Given the description of an element on the screen output the (x, y) to click on. 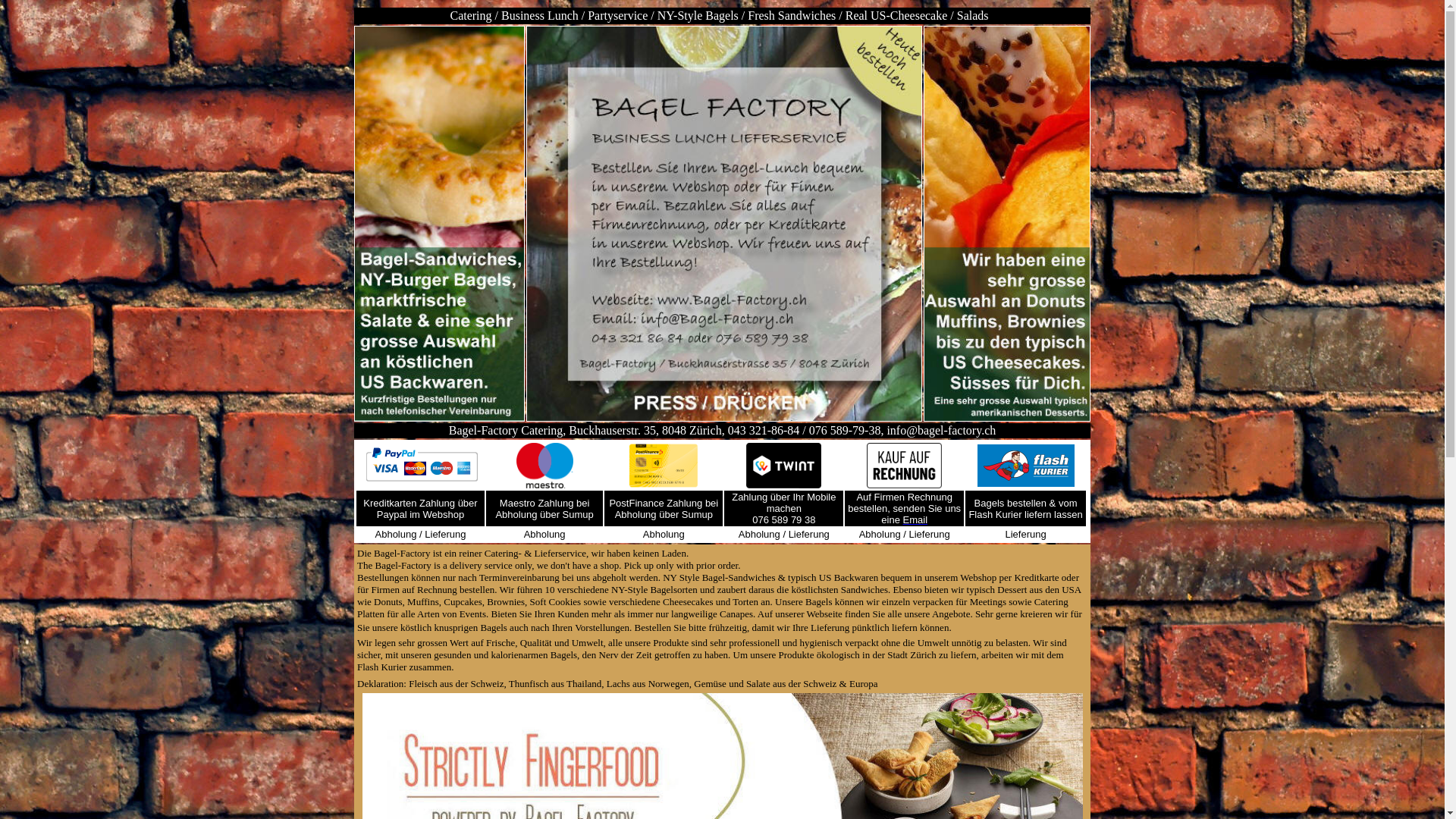
Email Element type: text (915, 519)
